Given the description of an element on the screen output the (x, y) to click on. 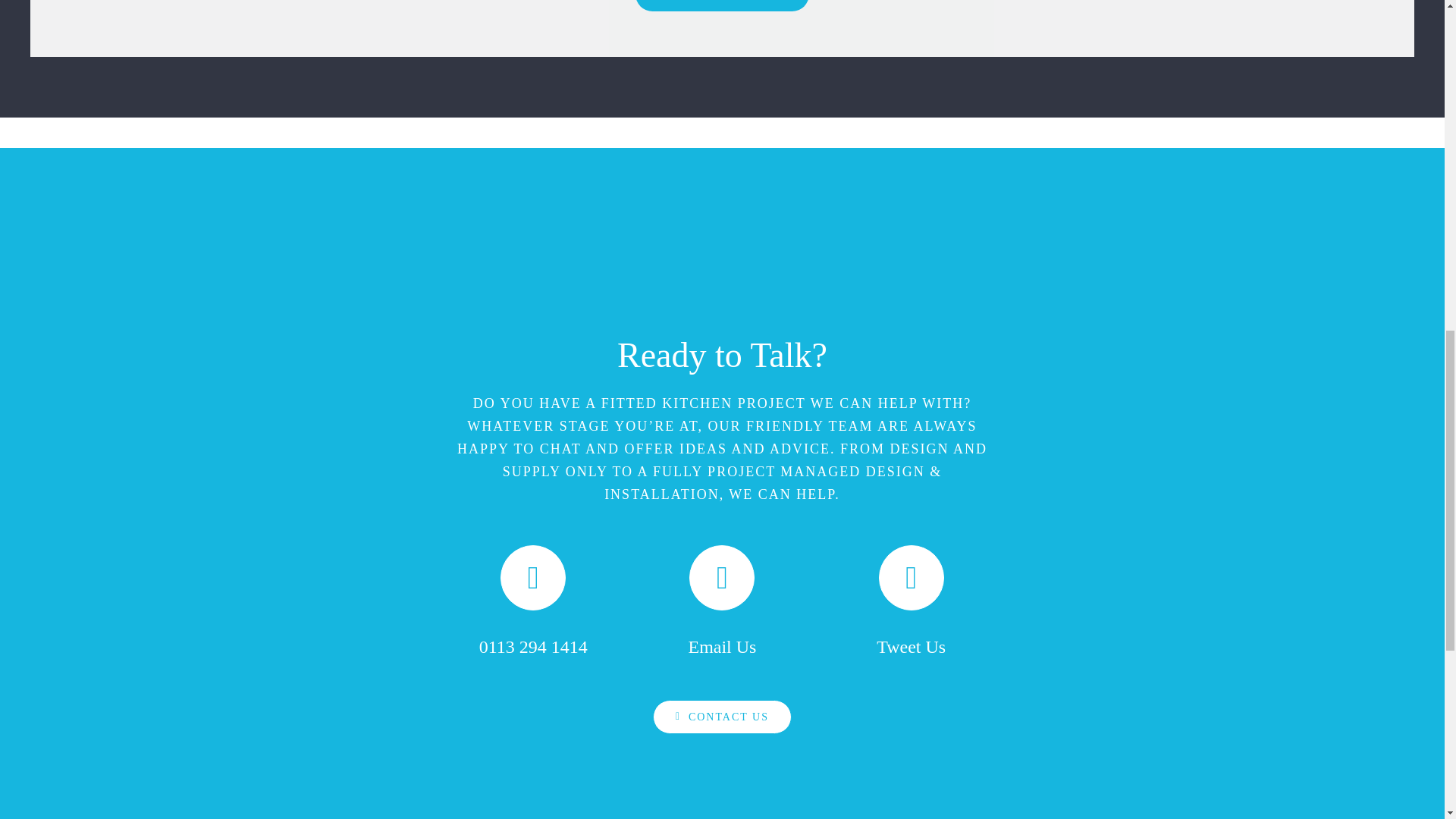
F4-divider-logo-white (722, 274)
